Given the description of an element on the screen output the (x, y) to click on. 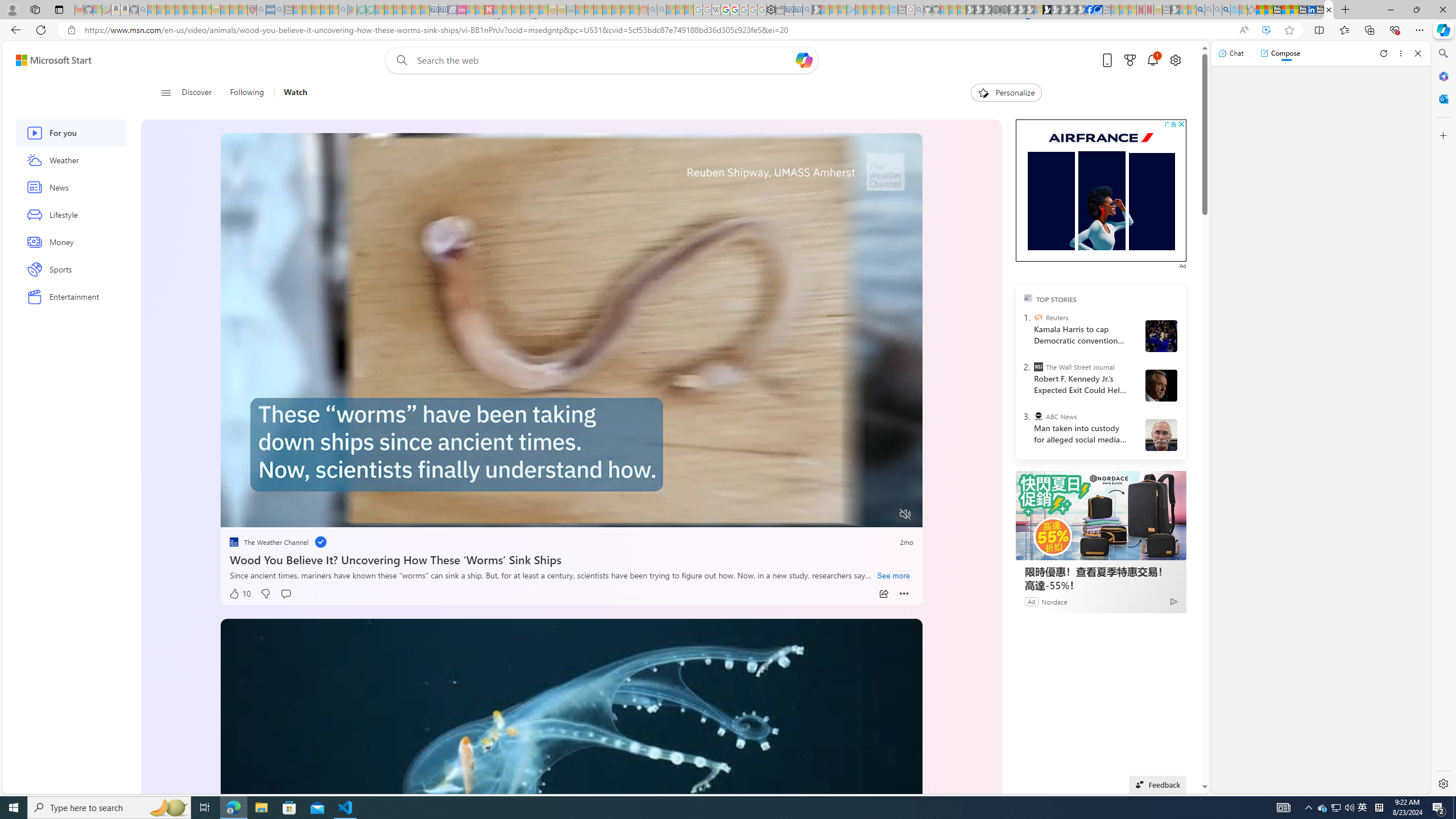
More (903, 593)
Bing AI - Search (1200, 9)
google - Search - Sleeping (342, 9)
Terms of Use Agreement - Sleeping (361, 9)
Skip to content (49, 59)
